Given the description of an element on the screen output the (x, y) to click on. 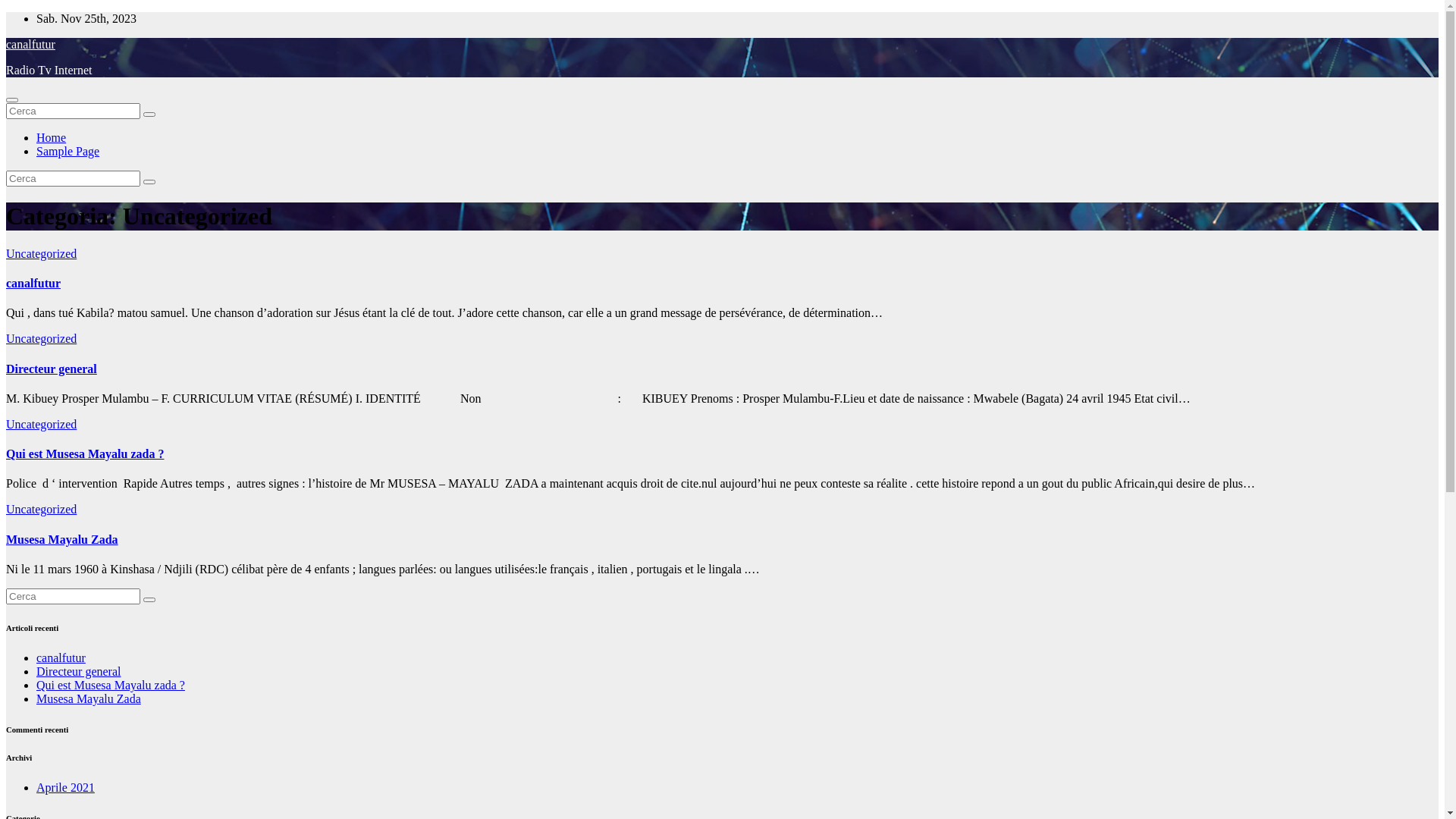
Uncategorized Element type: text (41, 508)
canalfutur Element type: text (33, 282)
Aprile 2021 Element type: text (65, 787)
Uncategorized Element type: text (41, 253)
Qui est Musesa Mayalu zada ? Element type: text (110, 684)
Musesa Mayalu Zada Element type: text (88, 698)
Directeur general Element type: text (78, 671)
Uncategorized Element type: text (41, 338)
Salta al contenuto Element type: text (5, 11)
Qui est Musesa Mayalu zada ? Element type: text (84, 453)
canalfutur Element type: text (60, 657)
Musesa Mayalu Zada Element type: text (62, 539)
Sample Page Element type: text (67, 150)
Directeur general Element type: text (51, 368)
canalfutur Element type: text (30, 43)
Home Element type: text (50, 137)
Uncategorized Element type: text (41, 423)
